Given the description of an element on the screen output the (x, y) to click on. 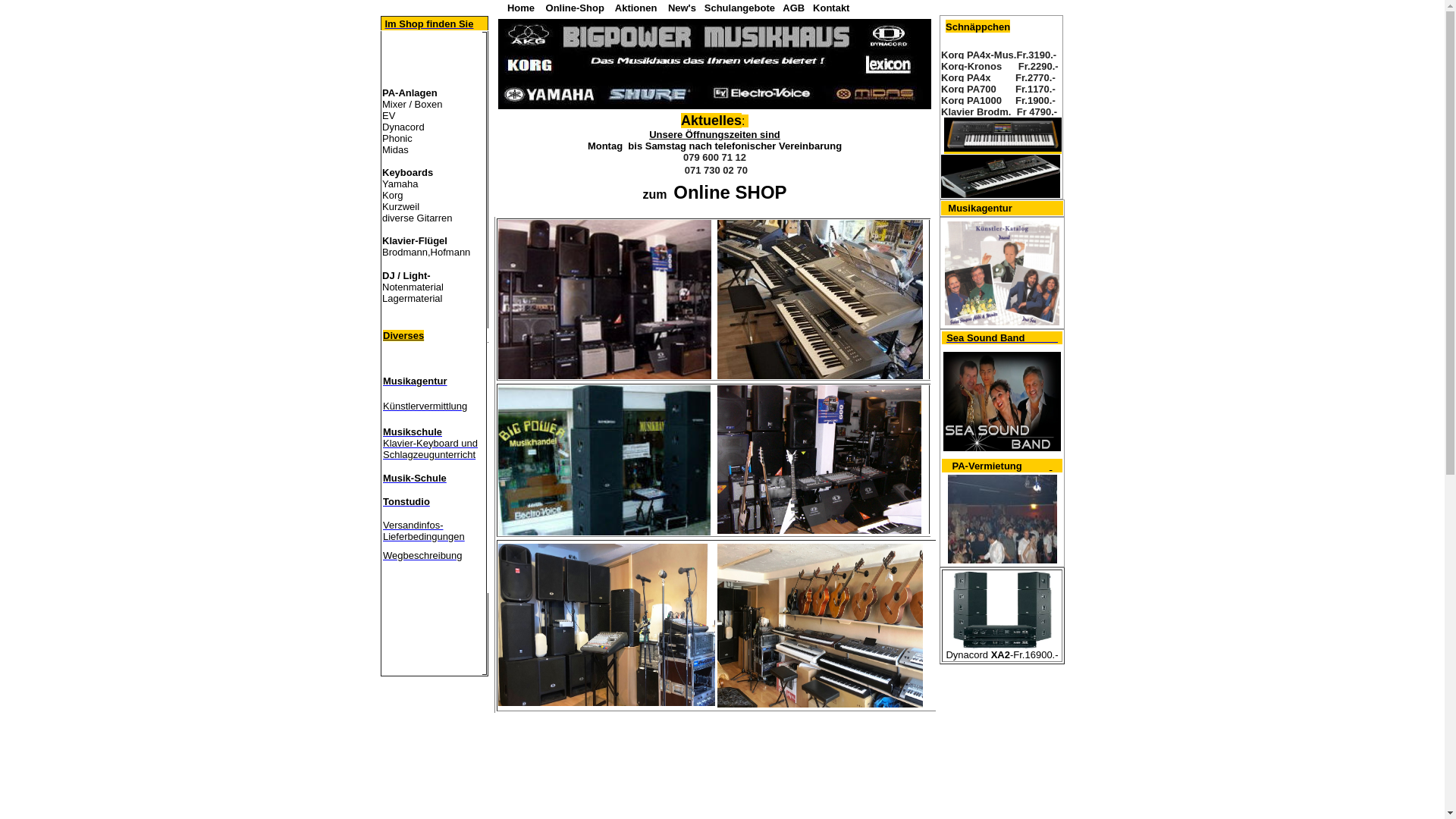
Tonstudio Element type: text (405, 501)
Sea Sound Band             Element type: text (1001, 337)
Wegbeschreibung Element type: text (422, 554)
Online SHOP Element type: text (726, 194)
Musik-Schule Element type: text (414, 477)
New's  Element type: text (683, 7)
Schulangebote Element type: text (739, 7)
AGB Element type: text (793, 7)
Musikagentur Element type: text (979, 208)
Online-Shop Element type: text (575, 7)
Home Element type: text (520, 6)
Musikagentur Element type: text (414, 379)
Kontakt Element type: text (830, 7)
Im Shop finden Sie Element type: text (428, 23)
Aktionen Element type: text (636, 7)
zum Element type: text (654, 194)
PA-Vermietung Element type: text (987, 466)
Musikschule
Klavier-Keyboard und
Schlagzeugunterricht Element type: text (429, 443)
Versandinfos-Lieferbedingungen Element type: text (423, 529)
